Given the description of an element on the screen output the (x, y) to click on. 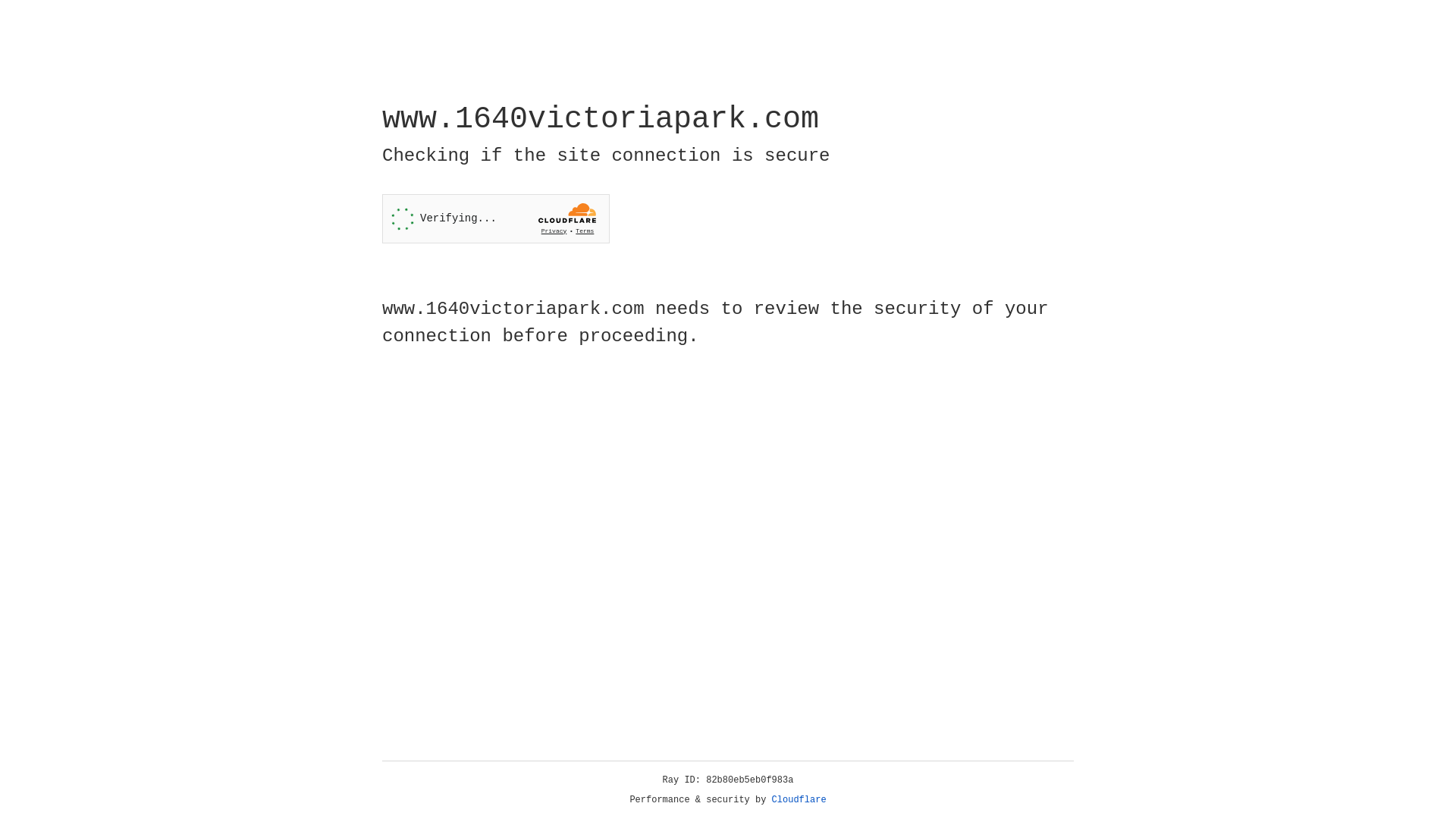
Cloudflare Element type: text (798, 799)
Widget containing a Cloudflare security challenge Element type: hover (495, 218)
